Given the description of an element on the screen output the (x, y) to click on. 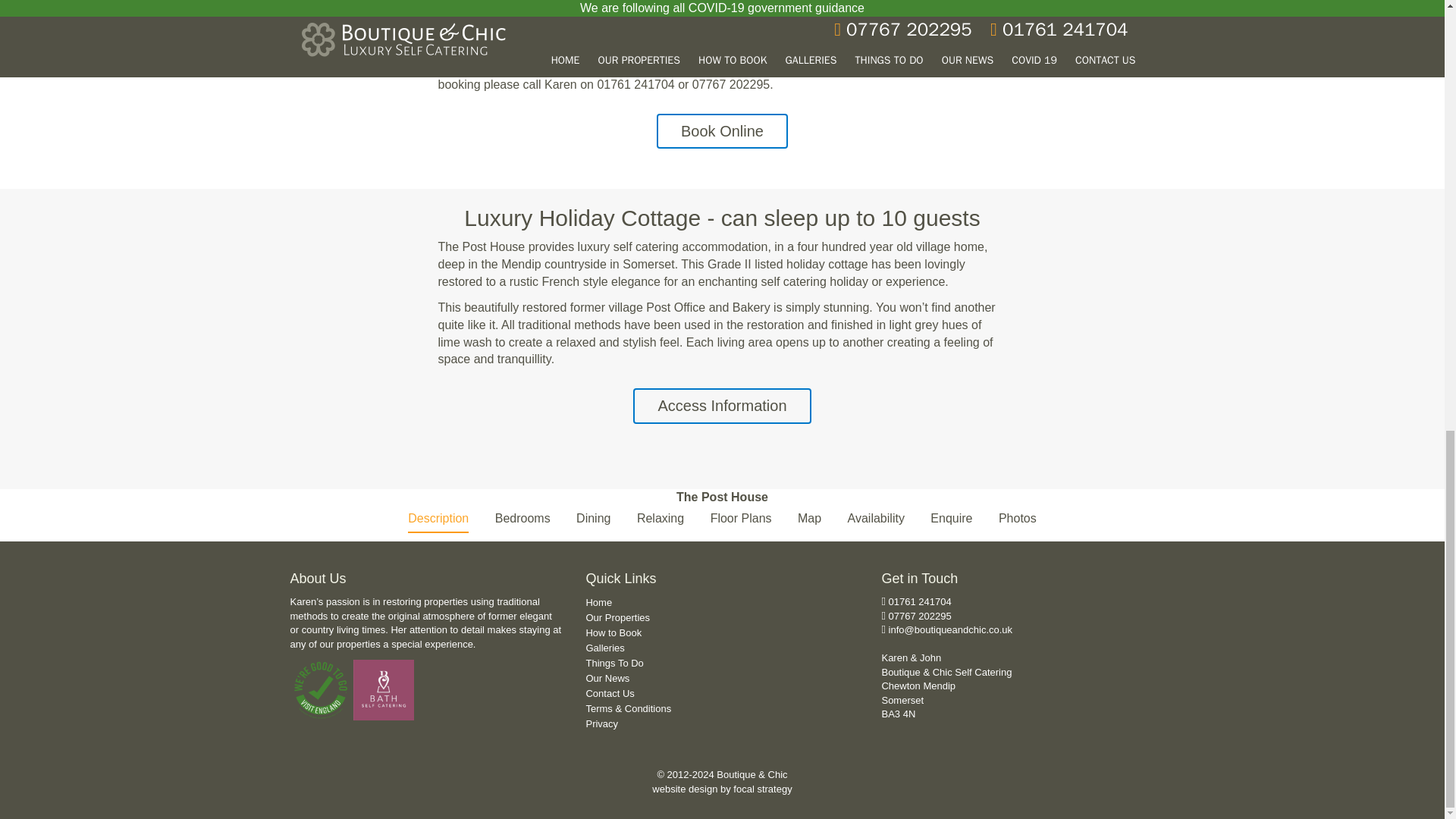
Bedrooms (522, 519)
Access Information (721, 406)
Book Online (721, 131)
enquire (498, 66)
check the availability calendar (559, 2)
Description (437, 519)
